Given the description of an element on the screen output the (x, y) to click on. 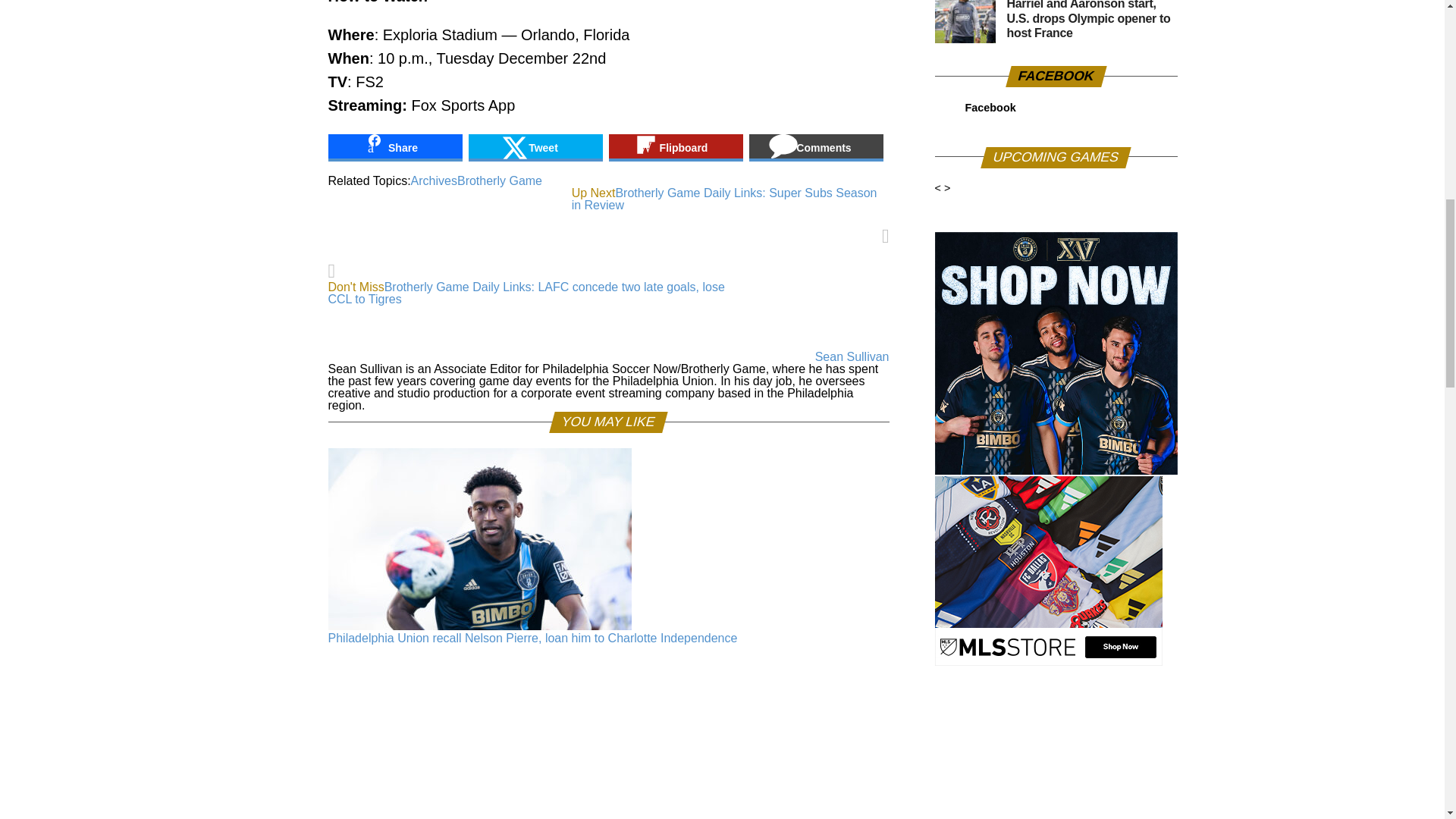
Share on Tweet (535, 147)
Share on Share (394, 147)
Share on Flipboard (675, 147)
Posts by Sean Sullivan (852, 356)
Share on Comments (816, 147)
